Given the description of an element on the screen output the (x, y) to click on. 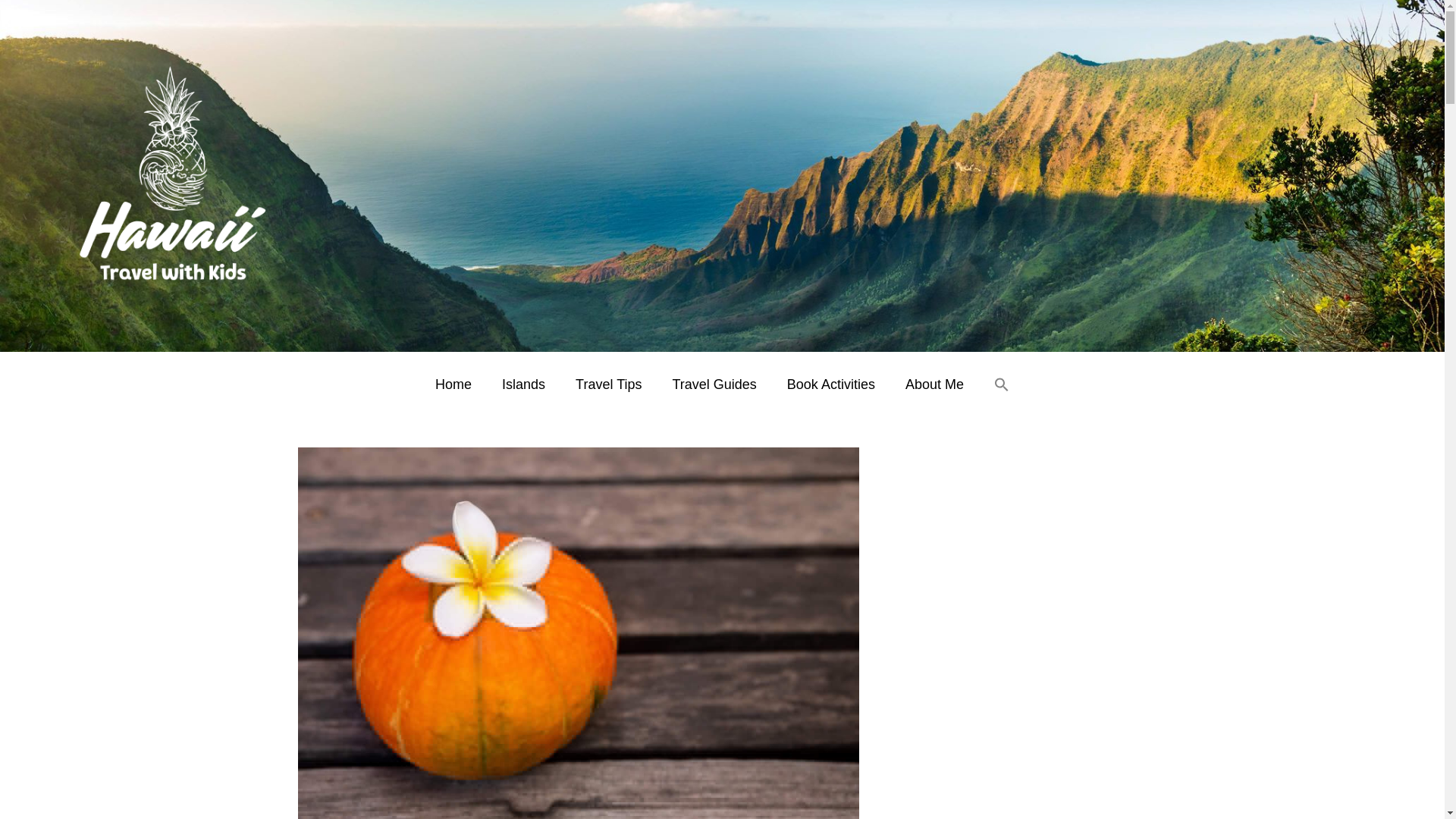
About Me (933, 384)
Islands (523, 384)
Travel Tips (608, 384)
Travel Guides (713, 384)
Book Activities (830, 384)
Home (453, 384)
